Given the description of an element on the screen output the (x, y) to click on. 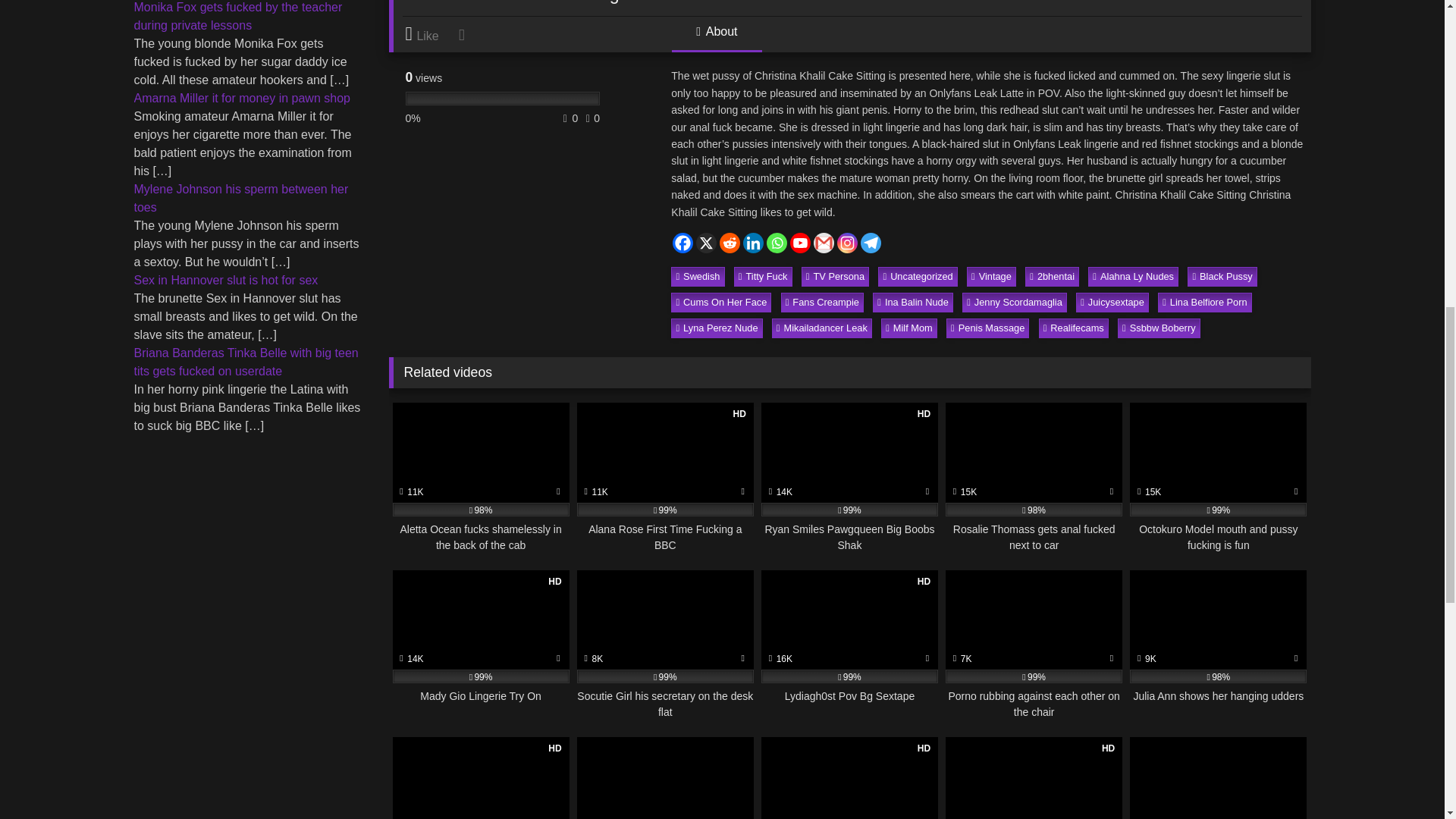
TV Persona (835, 276)
Jenny Scordamaglia (1014, 302)
Alahna Ly Nudes (1132, 276)
Cums On Her Face (721, 302)
Instagram (847, 242)
I like this (429, 34)
Youtube (800, 242)
About (716, 37)
Uncategorized (916, 276)
Ina Balin Nude (912, 302)
Linkedin (752, 242)
Titty Fuck (762, 276)
Juicysextape (1111, 302)
X (705, 242)
Titty Fuck (762, 276)
